Given the description of an element on the screen output the (x, y) to click on. 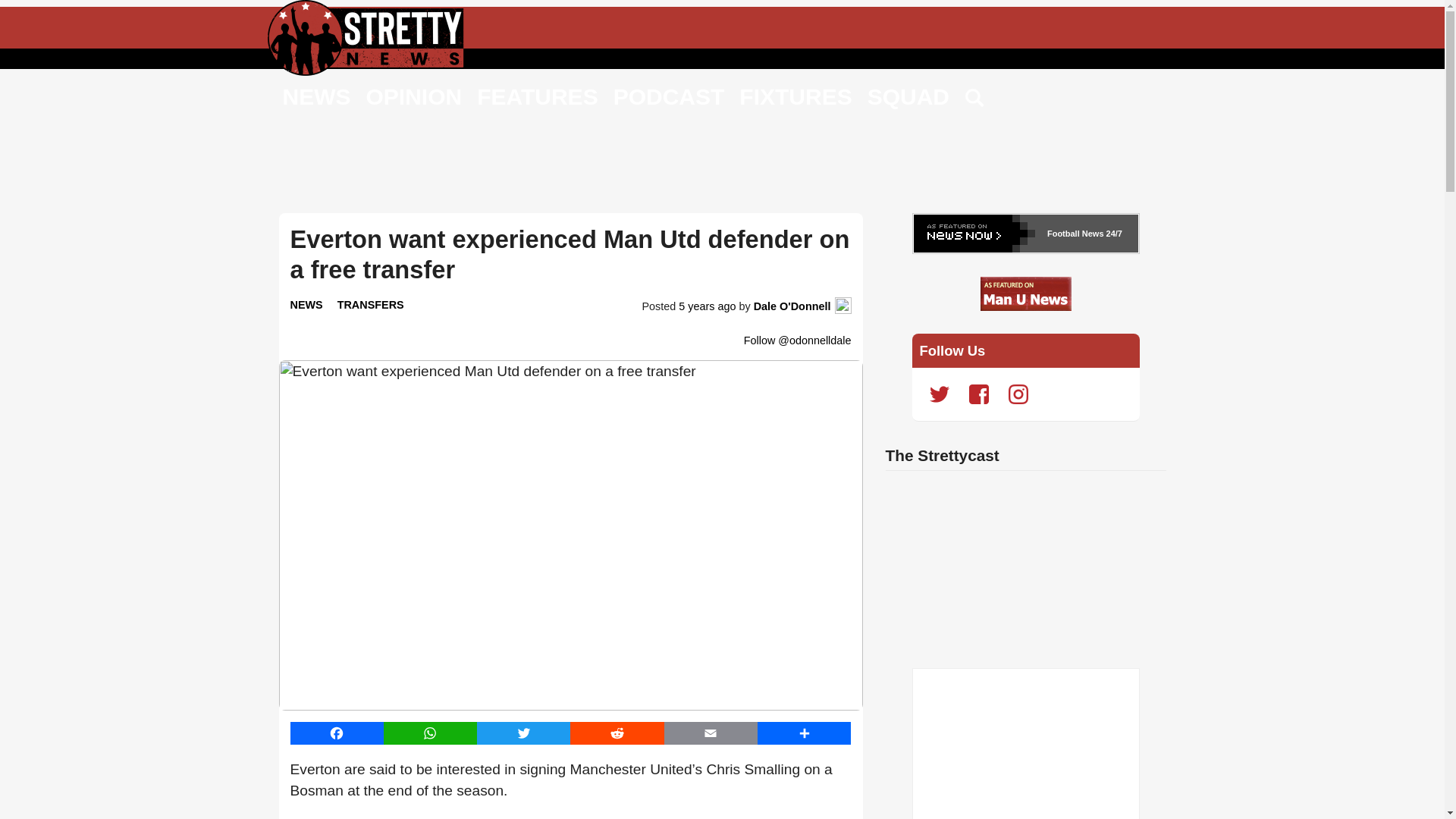
Email (710, 732)
TRANSFERS (370, 304)
Facebook (335, 732)
WhatsApp (430, 732)
Dale O'Donnell (792, 306)
SQUAD (908, 95)
NEWS (316, 95)
FEATURES (536, 95)
NEWS (305, 304)
Email (710, 732)
The Sun (443, 818)
Reddit (616, 732)
Latest Transfers News (370, 304)
Twitter (523, 732)
OPINION (413, 95)
